Given the description of an element on the screen output the (x, y) to click on. 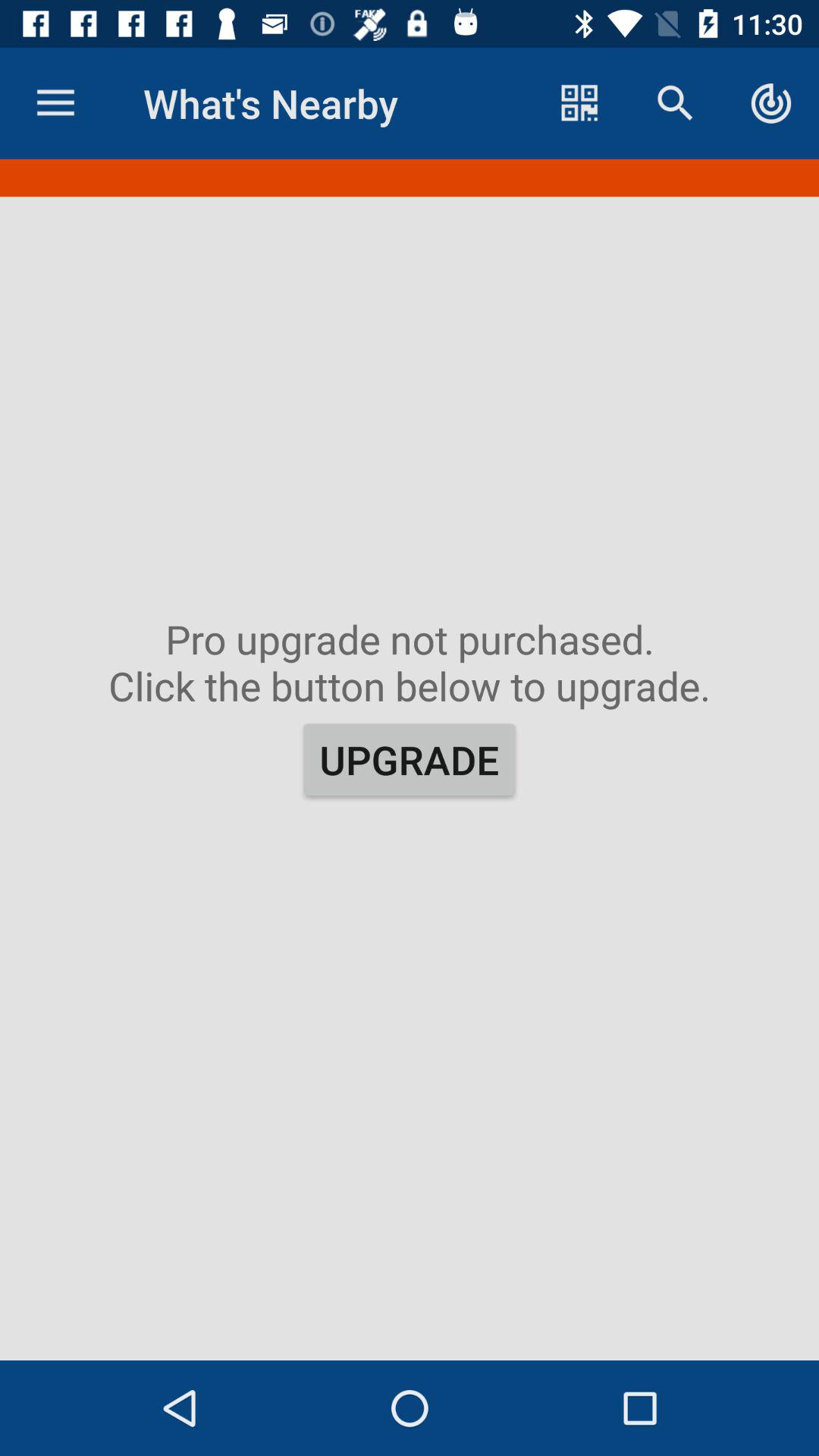
launch the item to the right of the what's nearby icon (579, 103)
